Given the description of an element on the screen output the (x, y) to click on. 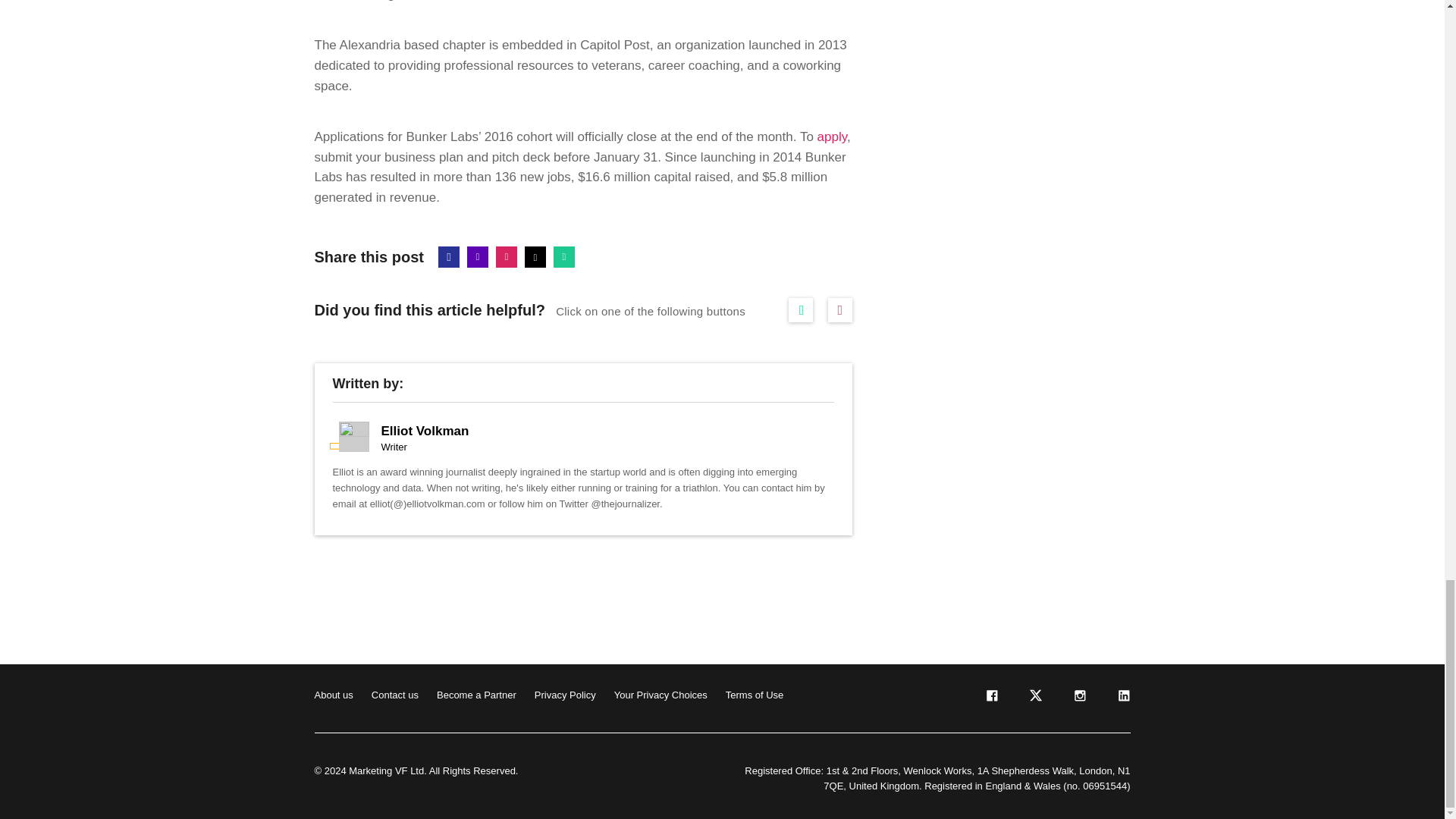
Flipboard (506, 256)
Linkedin (477, 256)
Facebook (449, 256)
linkedin (1122, 698)
Twitter-x (535, 256)
Whatsapp (564, 256)
facebook (990, 698)
instagram (1078, 698)
twitter-x (1034, 698)
